Given the description of an element on the screen output the (x, y) to click on. 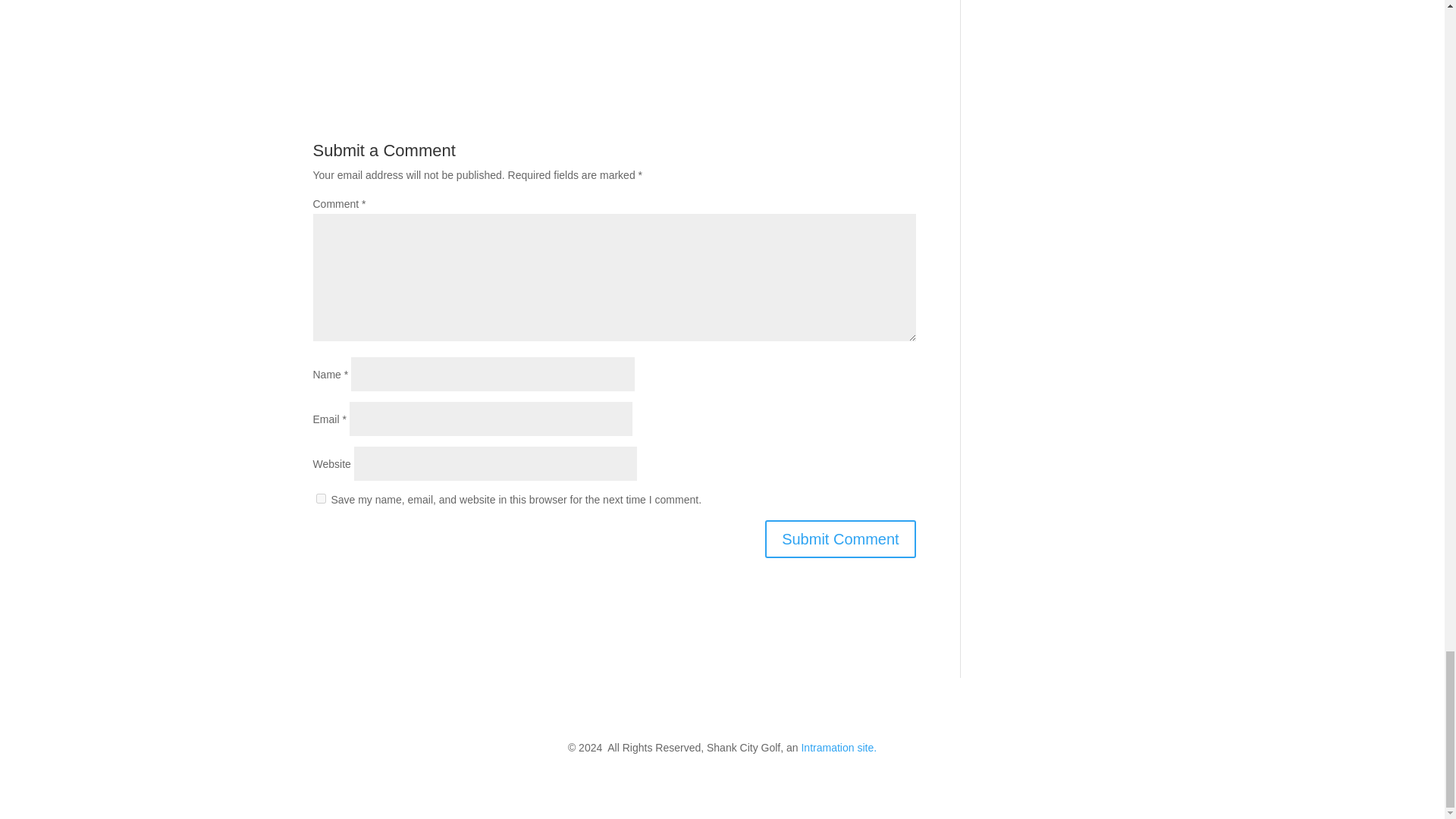
Submit Comment (840, 538)
Intramation site. (838, 747)
yes (319, 498)
Submit Comment (840, 538)
